Given the description of an element on the screen output the (x, y) to click on. 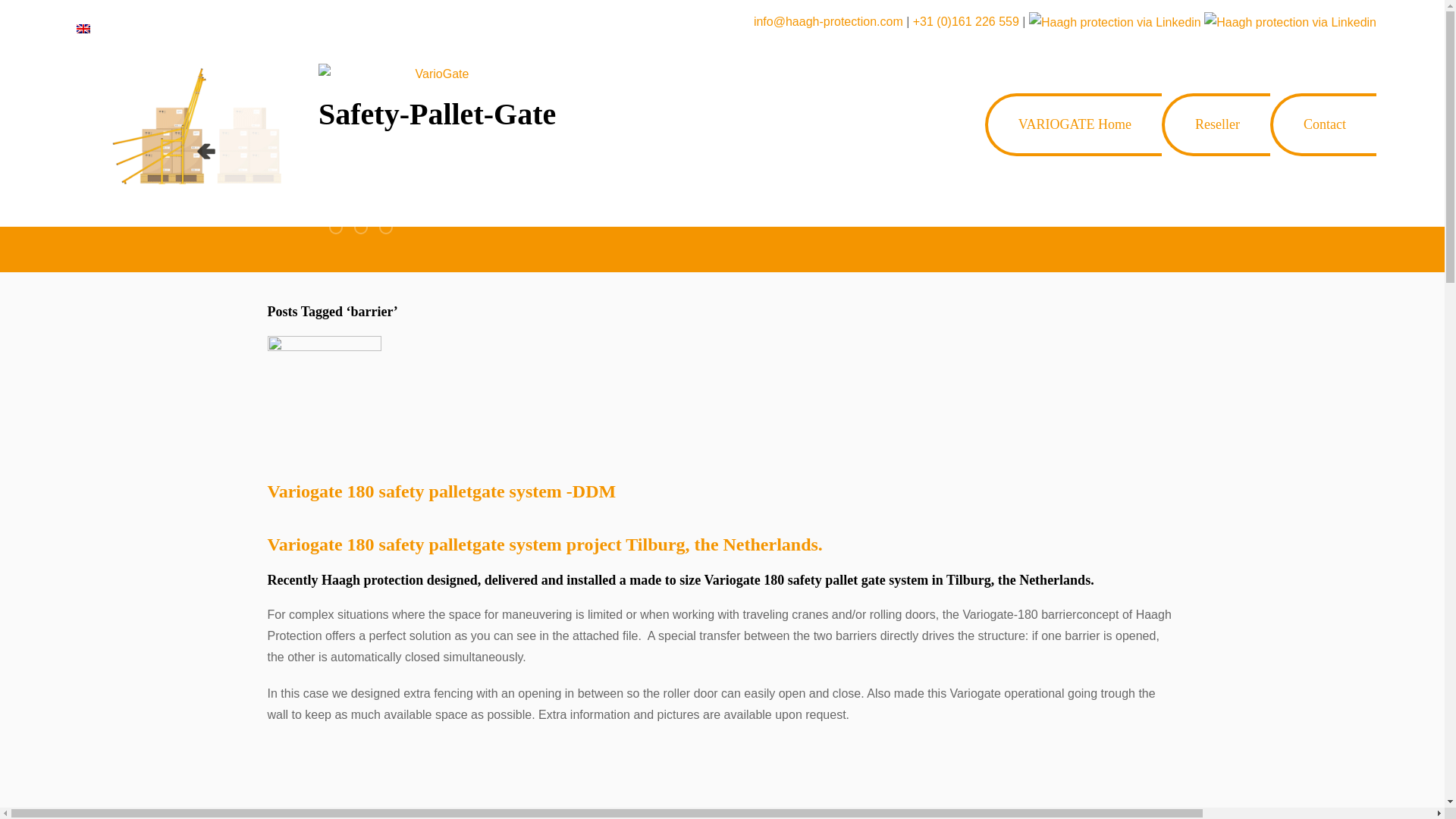
Contact (1324, 123)
Safety-Pallet-Gate (371, 123)
Variogate Safety Pallet Gate (360, 227)
Variogate 180 safety palletgate system -DDM (323, 391)
Reseller (1216, 123)
Variogate 180 safety palletgate system -DDM (440, 491)
Safety Pallet Gate System Made To Size (385, 227)
Inadequately secured lifting points (335, 227)
Variogate 180 safety palletgate system -DDM (440, 491)
VARIOGATE Home (1074, 123)
